Given the description of an element on the screen output the (x, y) to click on. 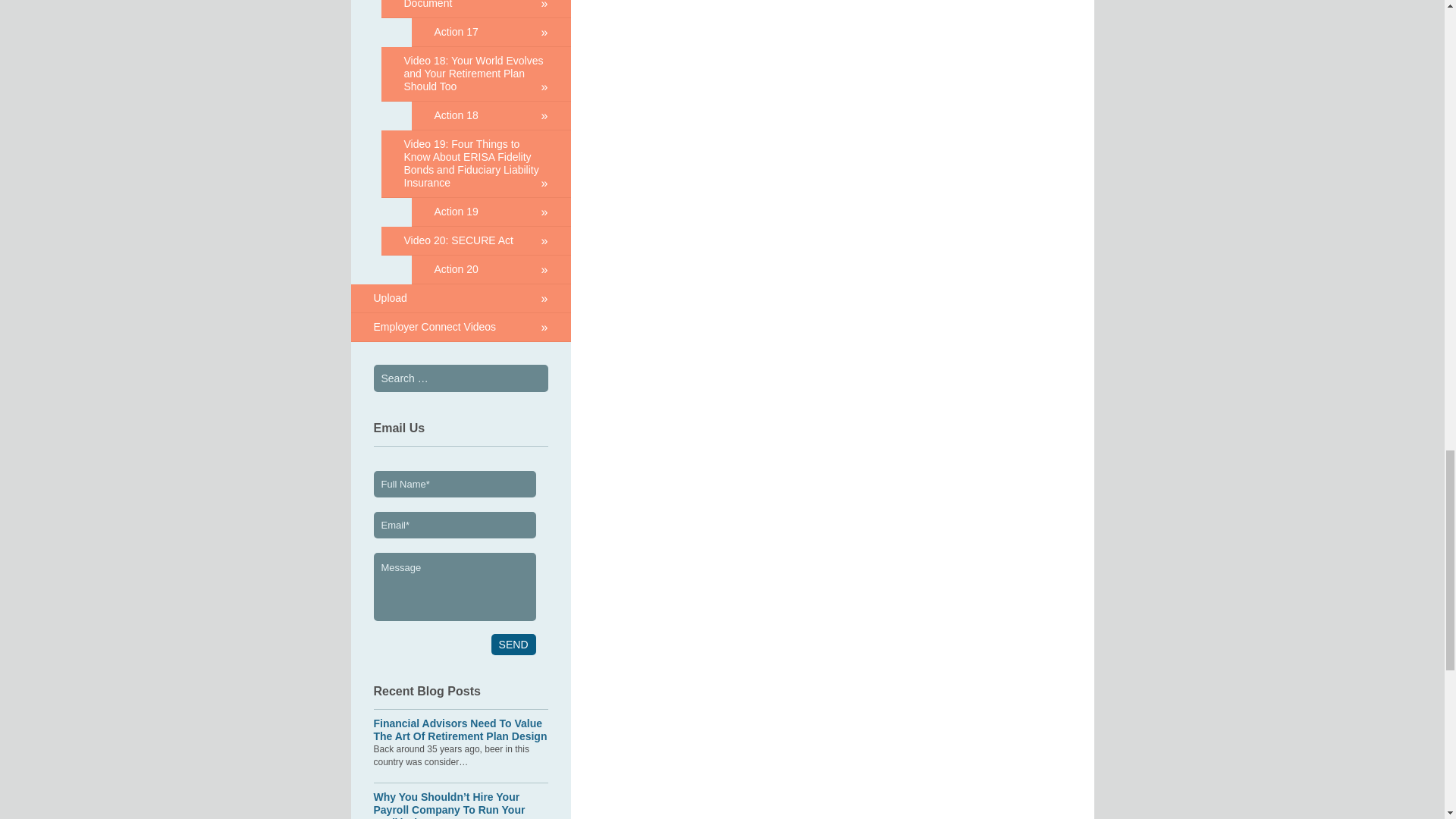
Send (513, 644)
Search for: (459, 378)
